Given the description of an element on the screen output the (x, y) to click on. 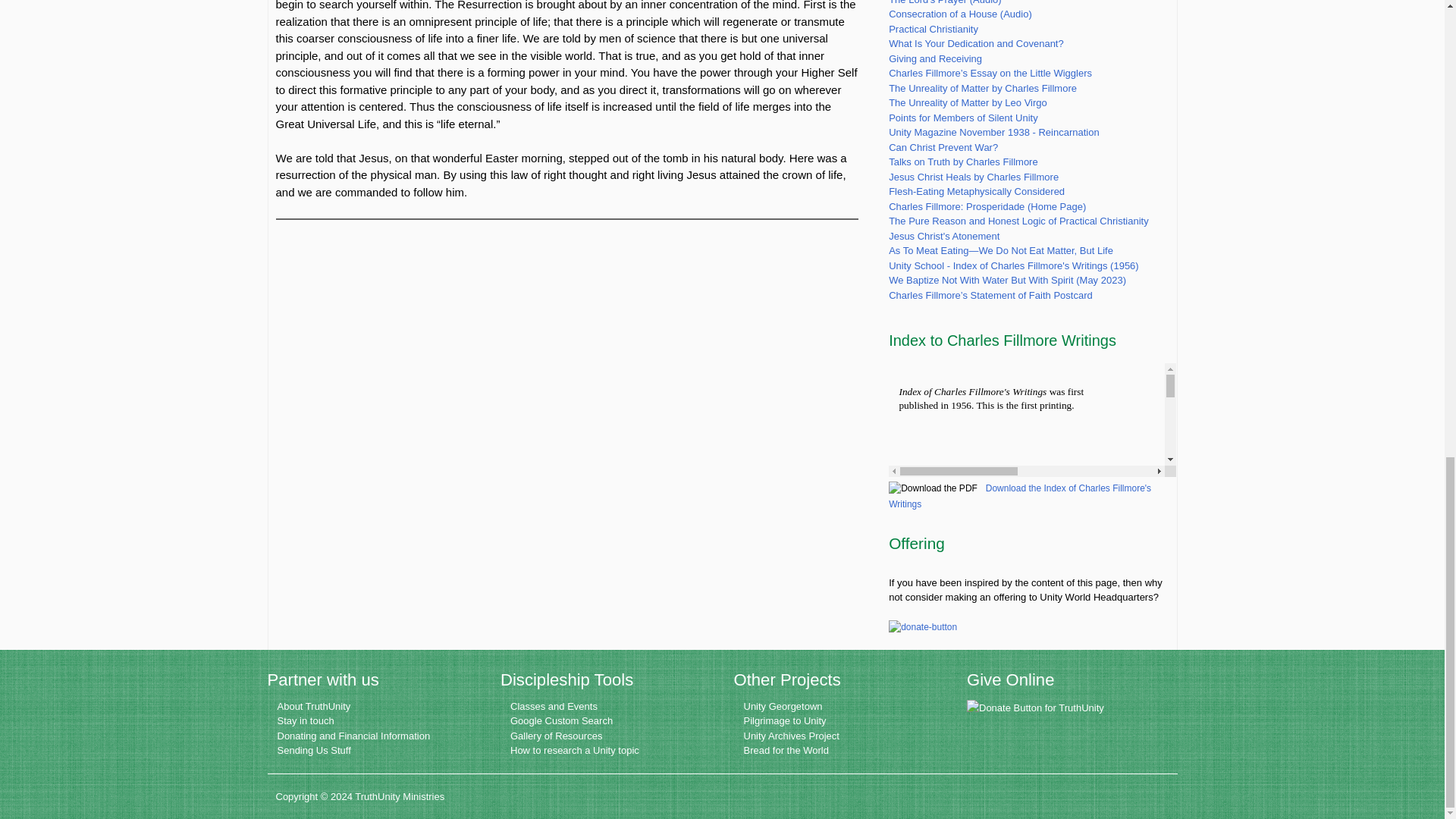
PDF copy of Index of Charles Fillmore's Writings (1019, 496)
